Given the description of an element on the screen output the (x, y) to click on. 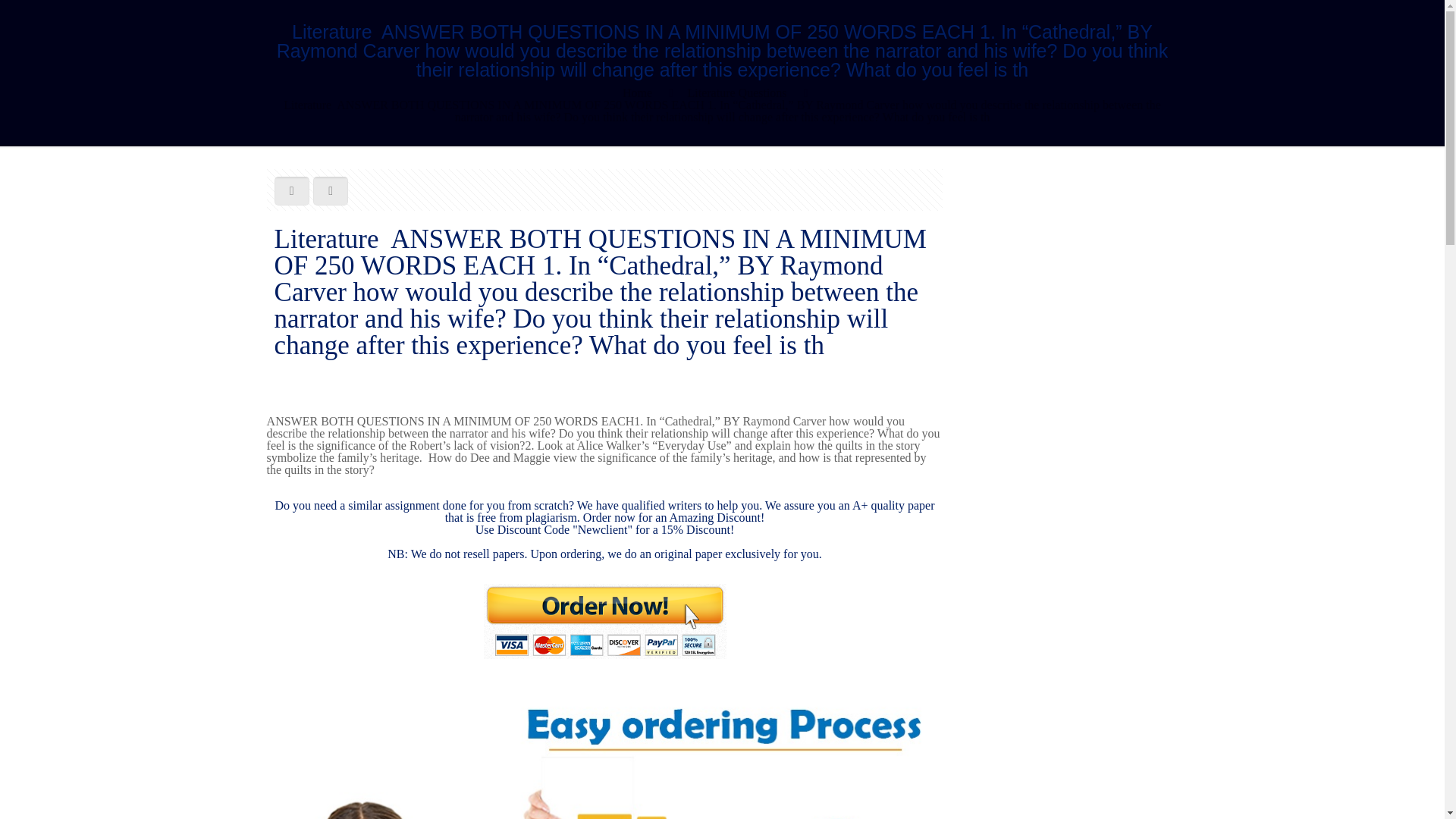
Literature Questions (736, 92)
Home (637, 92)
